Given the description of an element on the screen output the (x, y) to click on. 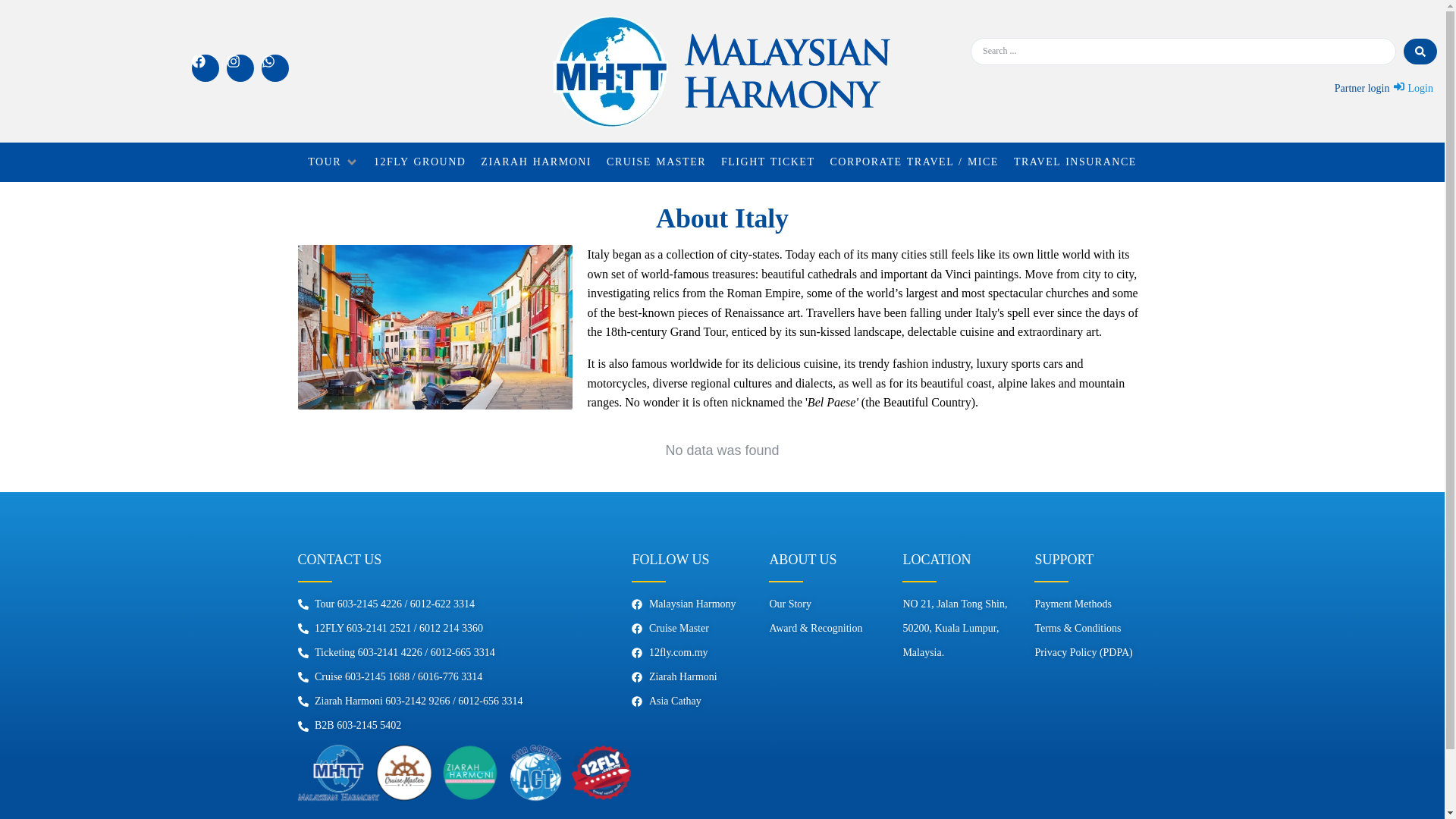
21, Jalan Tong Shin, 50200, Kuala Lumpur, Malaysia (957, 746)
TOUR (323, 161)
Login (1412, 88)
